Given the description of an element on the screen output the (x, y) to click on. 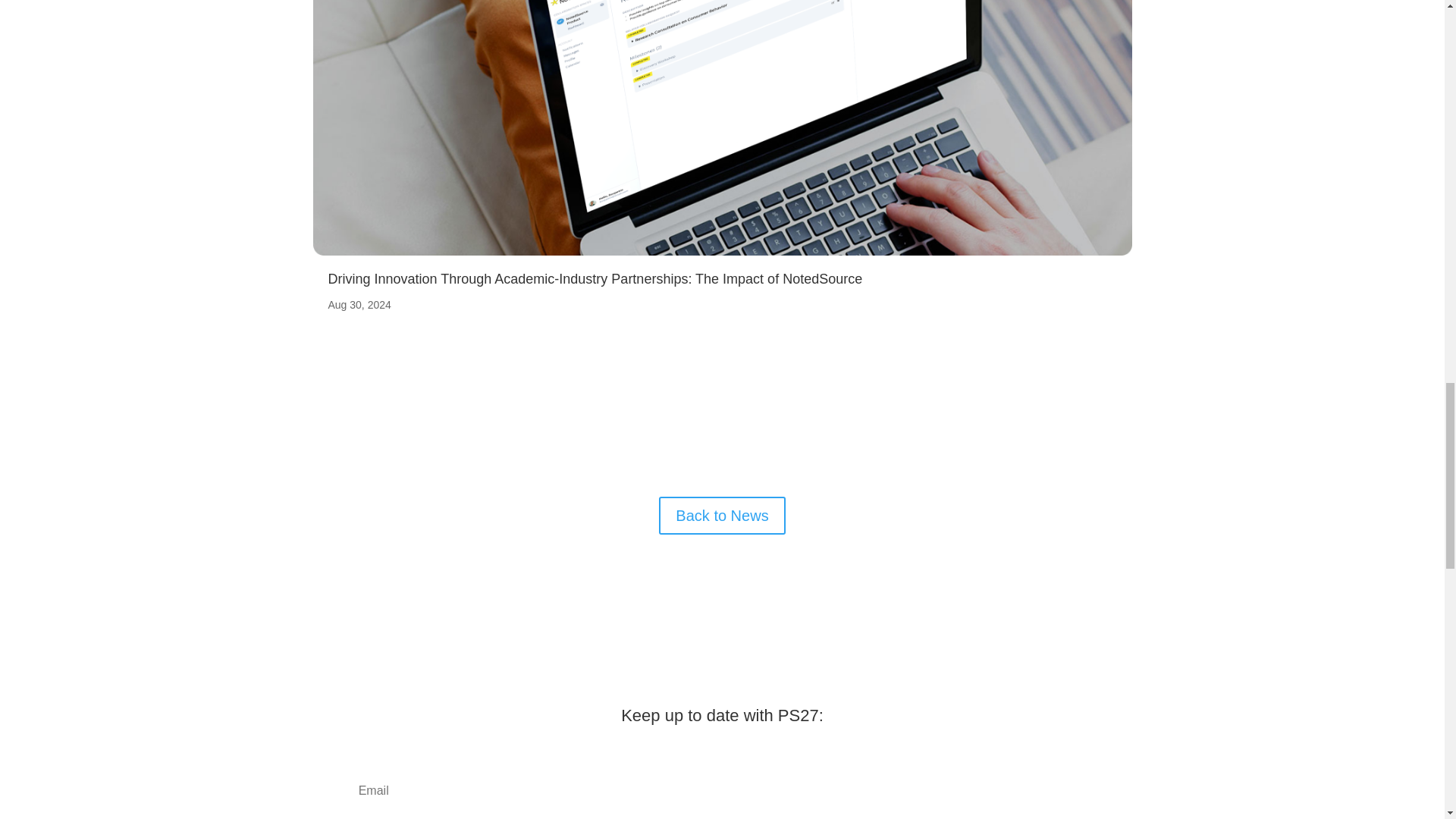
Back to News (721, 515)
Subscribe (1055, 792)
